Given the description of an element on the screen output the (x, y) to click on. 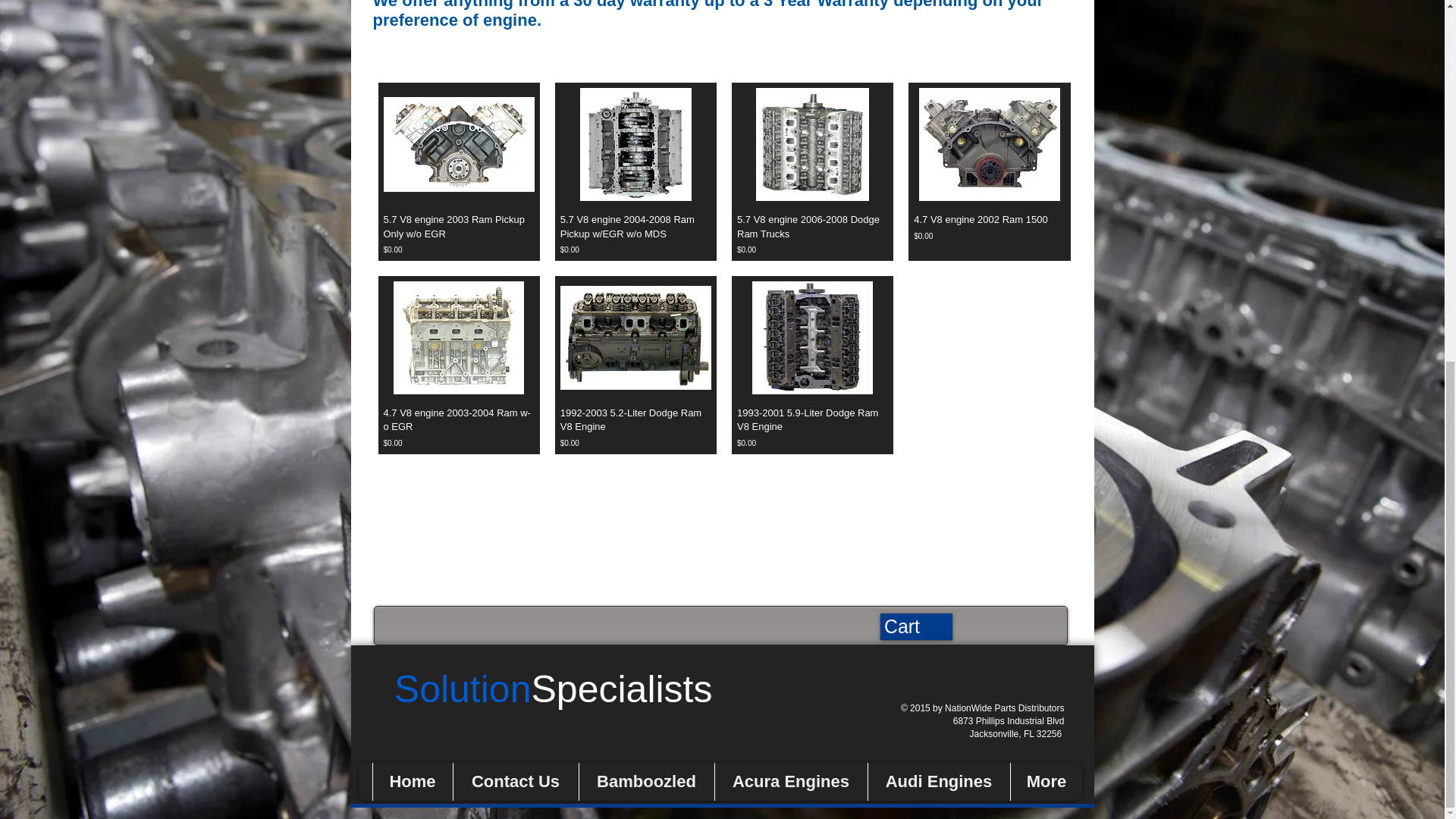
Cart (915, 626)
Contact Us (514, 781)
Cart (915, 626)
Home (411, 781)
SolutionSpecialists (553, 699)
